Given the description of an element on the screen output the (x, y) to click on. 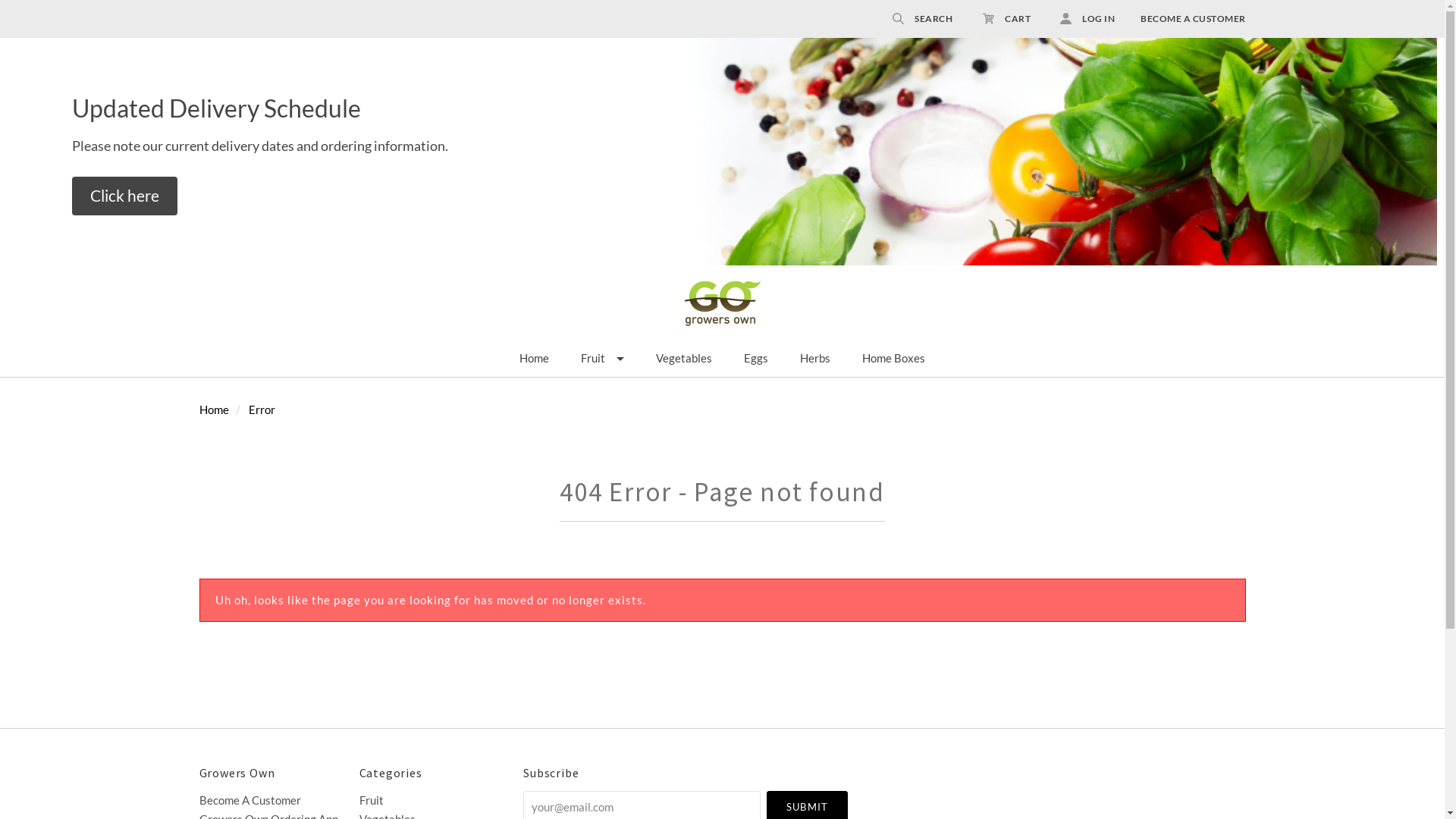
Home Boxes Element type: text (893, 358)
Become A Customer Element type: text (274, 799)
Herbs Element type: text (814, 358)
SEARCH Element type: text (922, 18)
Home Element type: text (534, 358)
Eggs Element type: text (755, 358)
Error Element type: text (261, 409)
Fruit Element type: text (435, 799)
CART Element type: text (1006, 18)
Fruit Element type: text (602, 358)
Home Element type: text (213, 409)
Vegetables Element type: text (683, 358)
BECOME A CUSTOMER Element type: text (1180, 18)
LOG IN Element type: text (1079, 18)
